Given the description of an element on the screen output the (x, y) to click on. 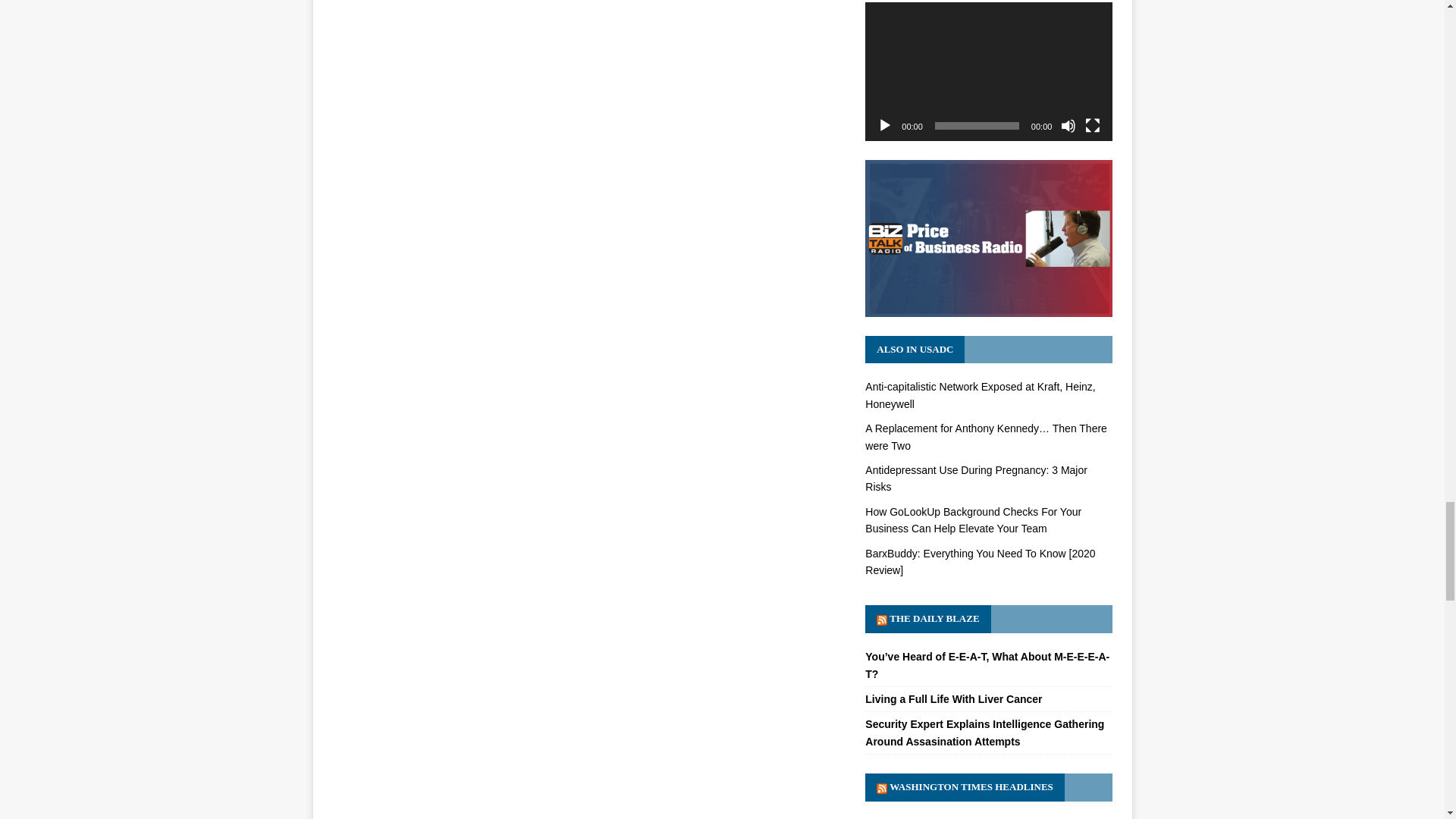
Mute (1068, 125)
Play (884, 125)
Fullscreen (1092, 125)
